Given the description of an element on the screen output the (x, y) to click on. 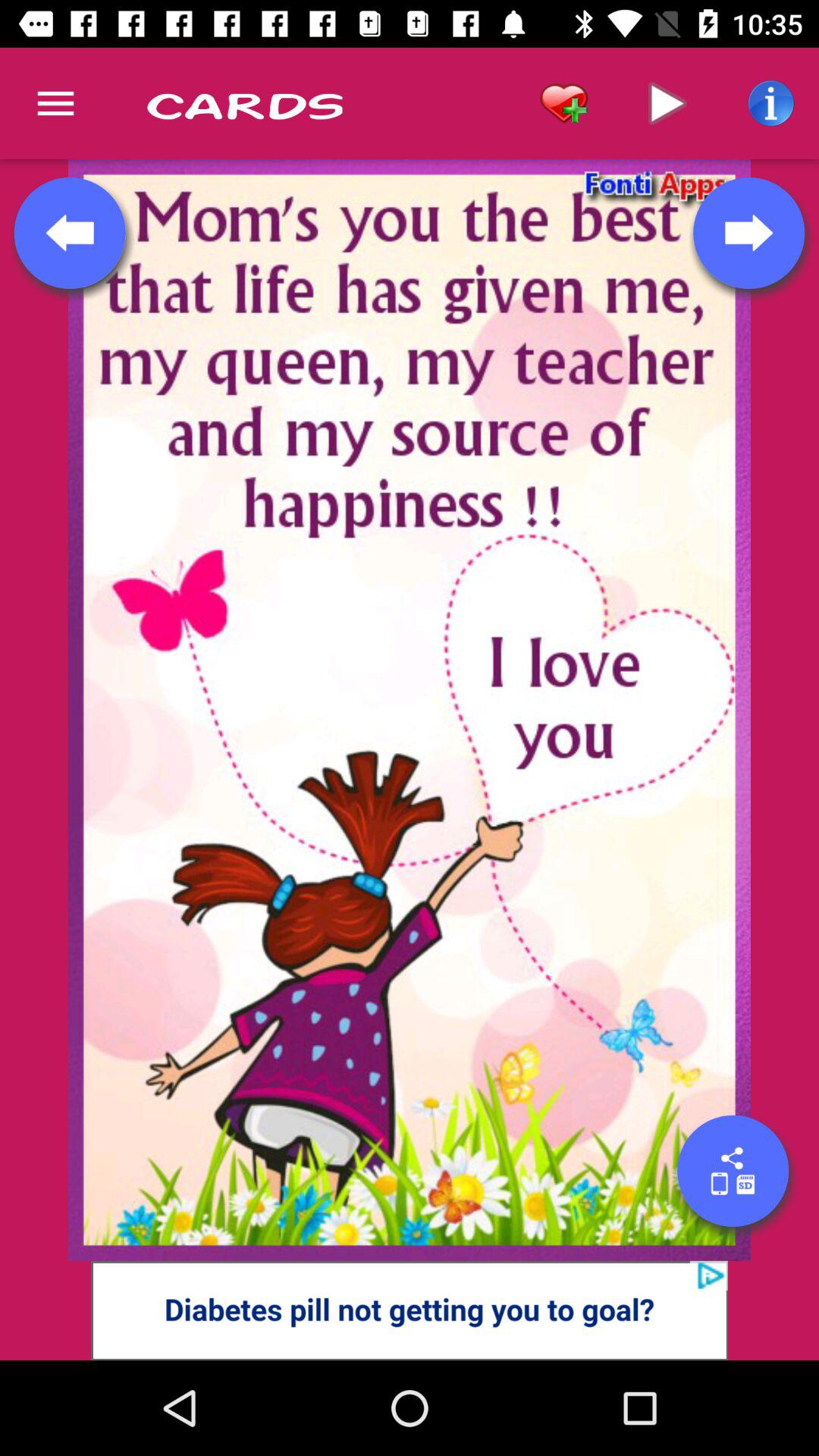
go to next page (749, 233)
